Given the description of an element on the screen output the (x, y) to click on. 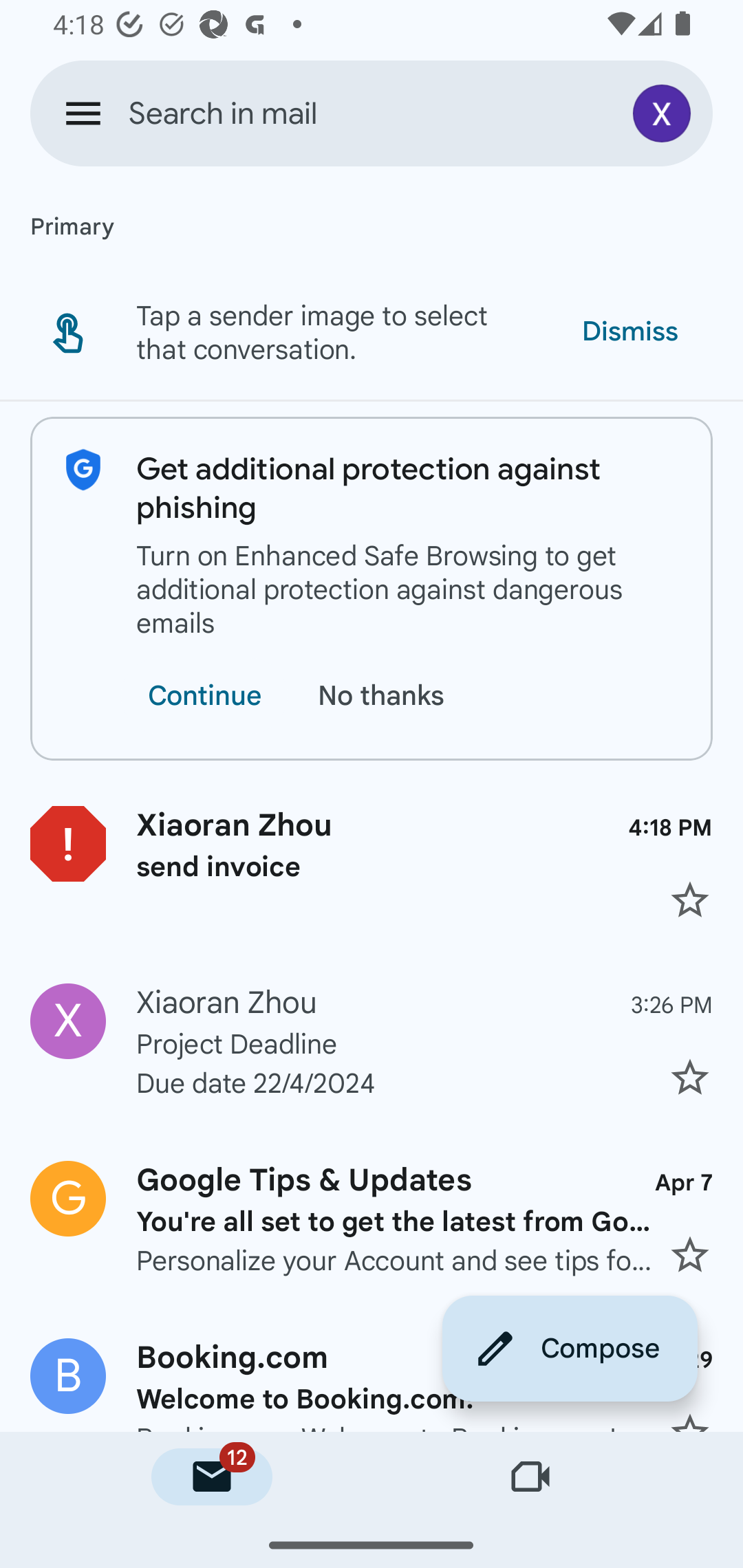
Open navigation drawer (82, 112)
Dismiss Dismiss tip (629, 331)
Continue (204, 695)
No thanks (385, 695)
Compose (569, 1348)
Meet (530, 1476)
